Given the description of an element on the screen output the (x, y) to click on. 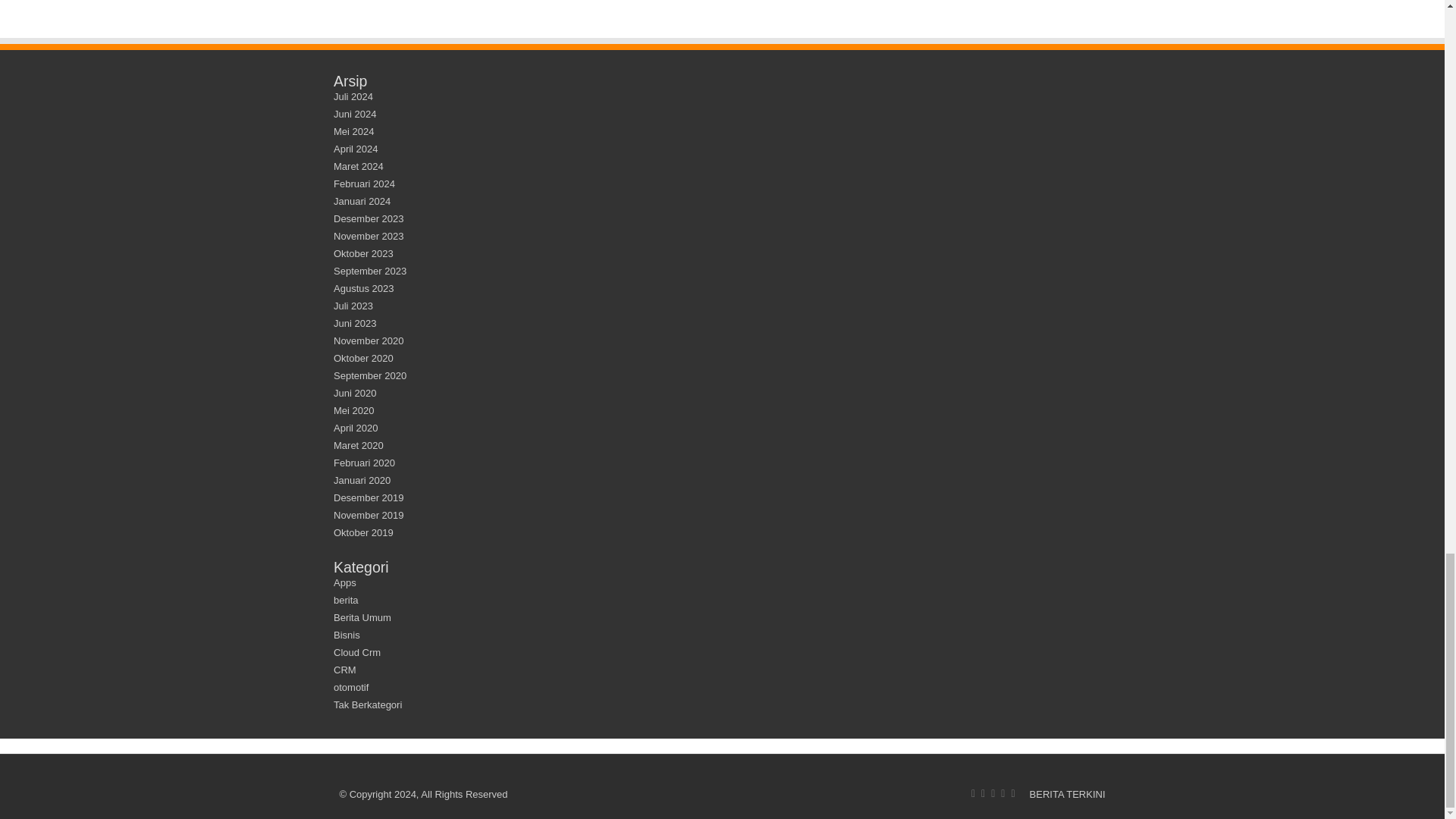
Maret 2024 (358, 165)
September 2023 (369, 270)
Juni 2024 (354, 113)
November 2023 (368, 235)
Februari 2024 (363, 183)
Januari 2024 (361, 201)
Mei 2024 (353, 131)
April 2024 (355, 148)
Juli 2024 (352, 96)
Oktober 2023 (363, 253)
Agustus 2023 (363, 288)
Desember 2023 (368, 218)
